Given the description of an element on the screen output the (x, y) to click on. 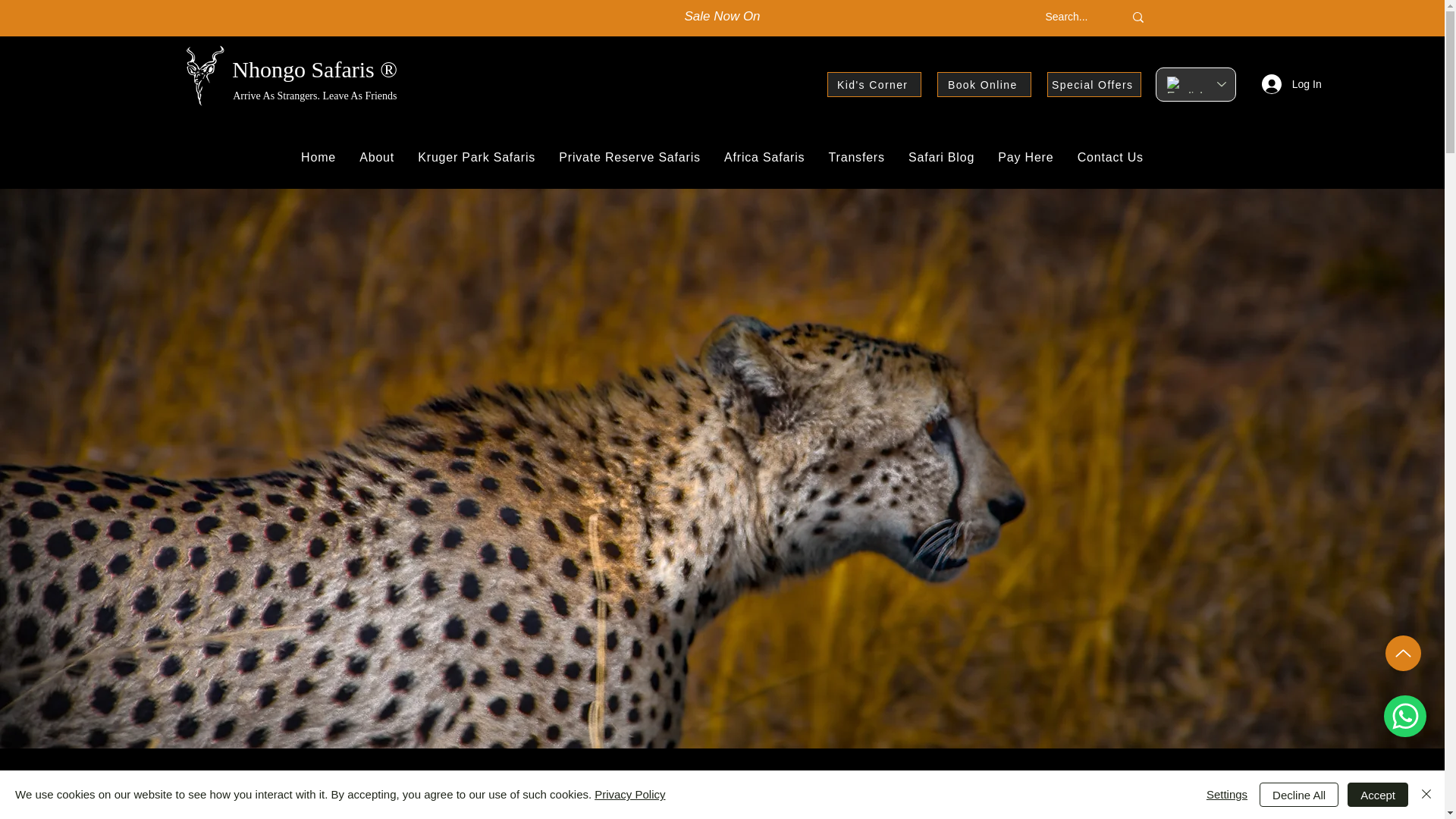
About (376, 157)
Book Online (983, 84)
Log In (1282, 83)
Home (318, 157)
Special Offers (1093, 84)
Sale Now On (722, 16)
Kid's Corner (874, 84)
